Given the description of an element on the screen output the (x, y) to click on. 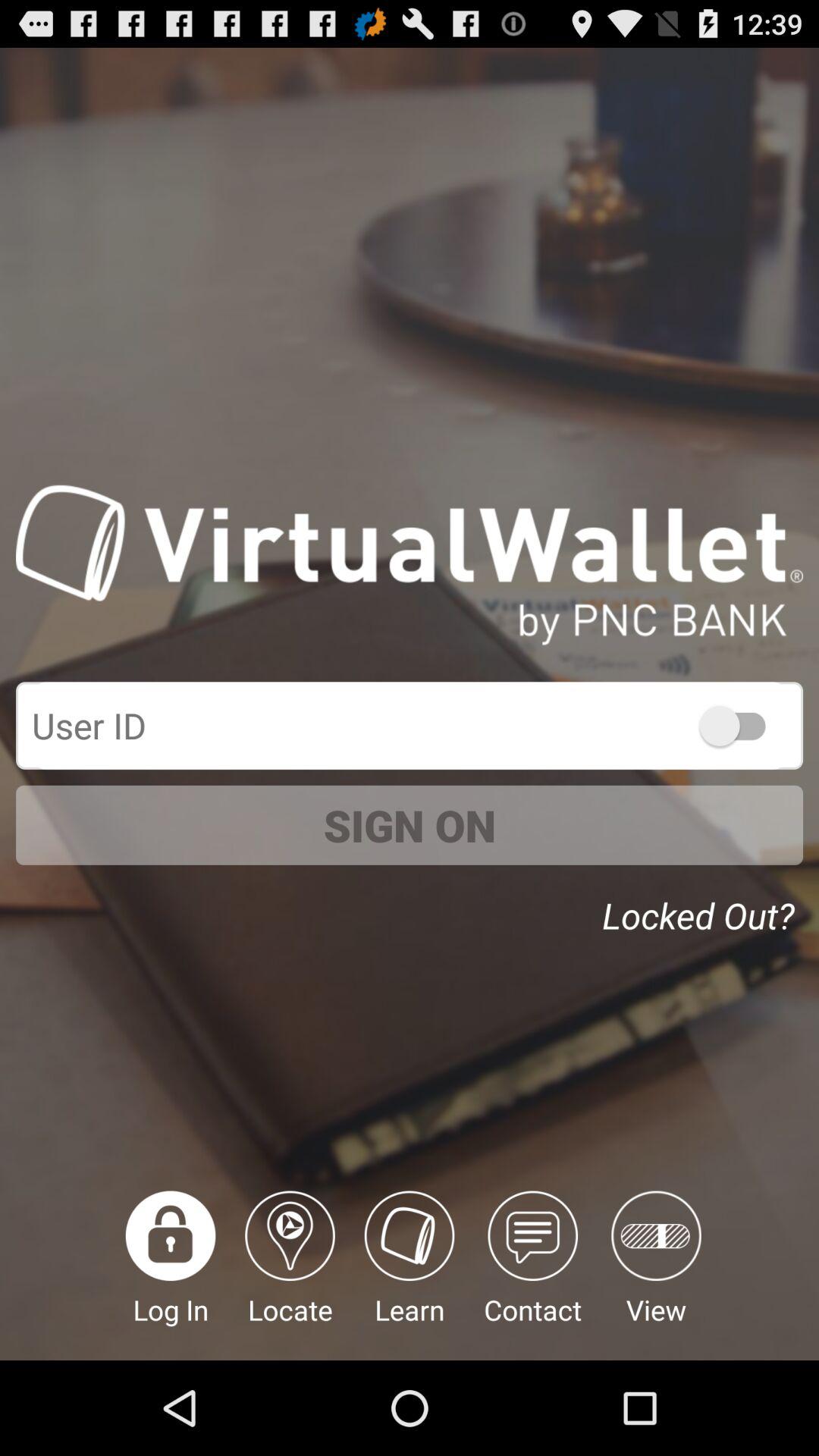
switch to view user id (739, 725)
